Given the description of an element on the screen output the (x, y) to click on. 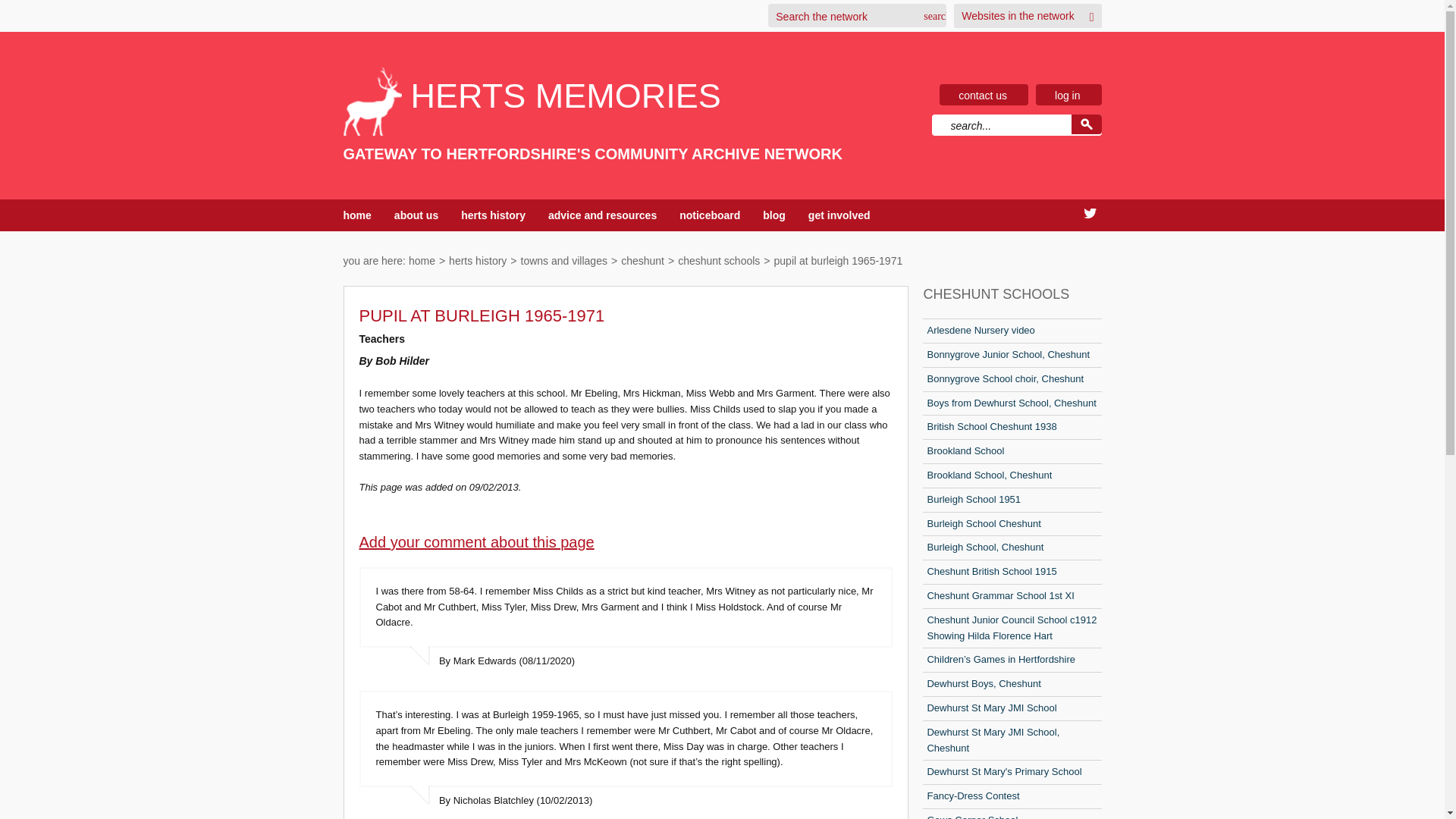
towns and villages (564, 260)
Go (1085, 124)
log in (1067, 95)
HERTS MEMORIES (592, 95)
Go (1085, 124)
Search Herts Memories (1085, 124)
Search... (1000, 125)
about us (416, 214)
herts history (477, 260)
home (422, 260)
home (356, 214)
advice and resources (602, 214)
contact us (982, 95)
Search (930, 16)
noticeboard (709, 214)
